Given the description of an element on the screen output the (x, y) to click on. 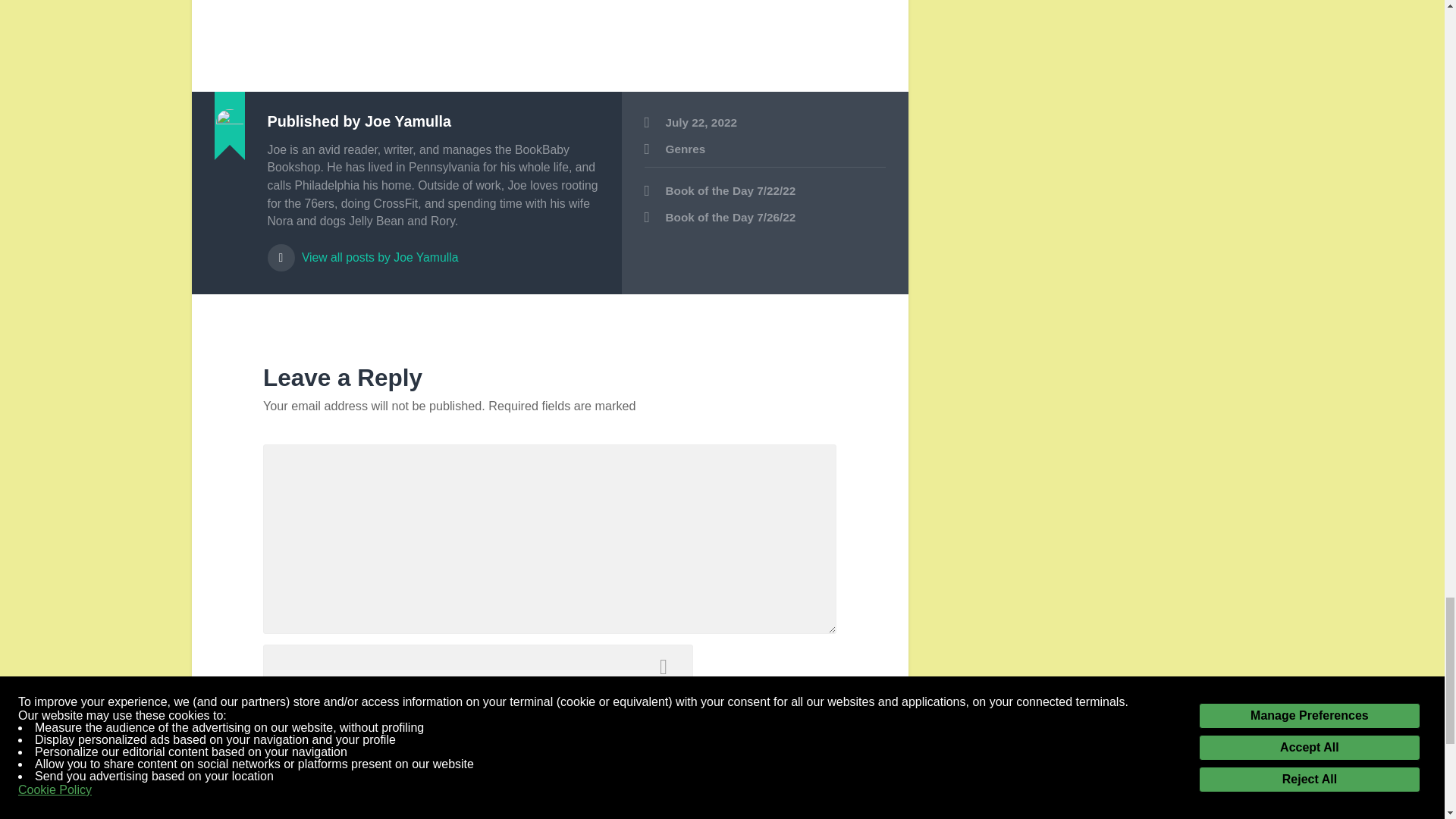
Genres (685, 148)
yes (271, 808)
View all posts by Joe Yamulla (432, 250)
